Given the description of an element on the screen output the (x, y) to click on. 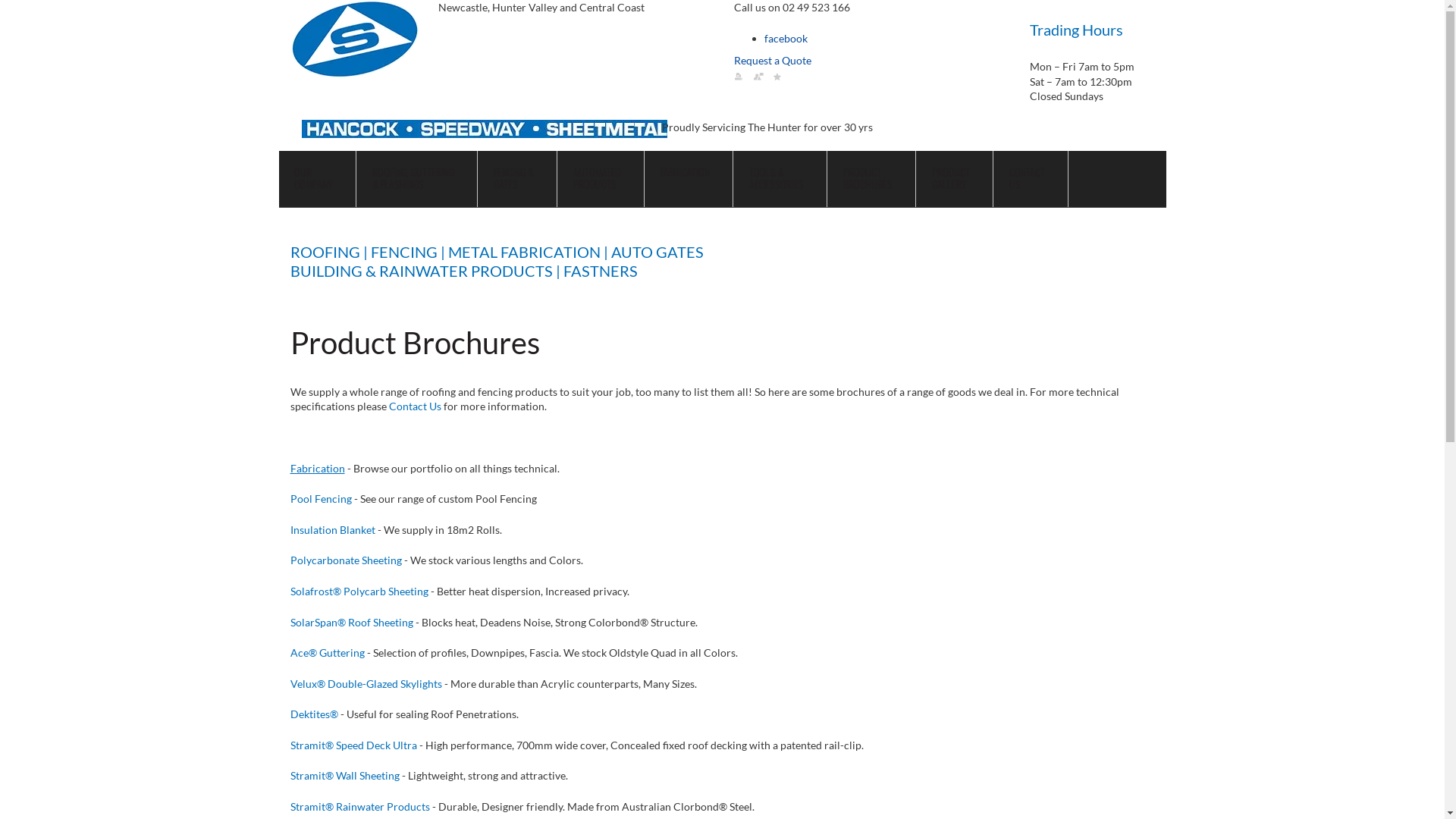
Polycarbonate Sheeting Element type: text (345, 559)
CONTACT
US Element type: text (1030, 178)
Contact Us Element type: text (414, 405)
OUR
COMPANY Element type: text (317, 178)
TOOLS &
ACCESSORIES Element type: text (780, 178)
PRODUCT
GALLERY Element type: text (954, 178)
AUTOMATED
PRODUCTS Element type: text (601, 178)
Fabrication Element type: text (316, 467)
PRODUCT
BROCHURES Element type: text (872, 178)
ROOFING, GUTTERING
& FLASHINGS Element type: text (416, 178)
facebook Element type: text (785, 37)
Pool Fencing Element type: text (320, 498)
Insulation Blanket Element type: text (331, 529)
FABRICATION Element type: text (688, 178)
FENCING &
GATES Element type: text (516, 178)
Request a Quote Element type: text (772, 59)
